Given the description of an element on the screen output the (x, y) to click on. 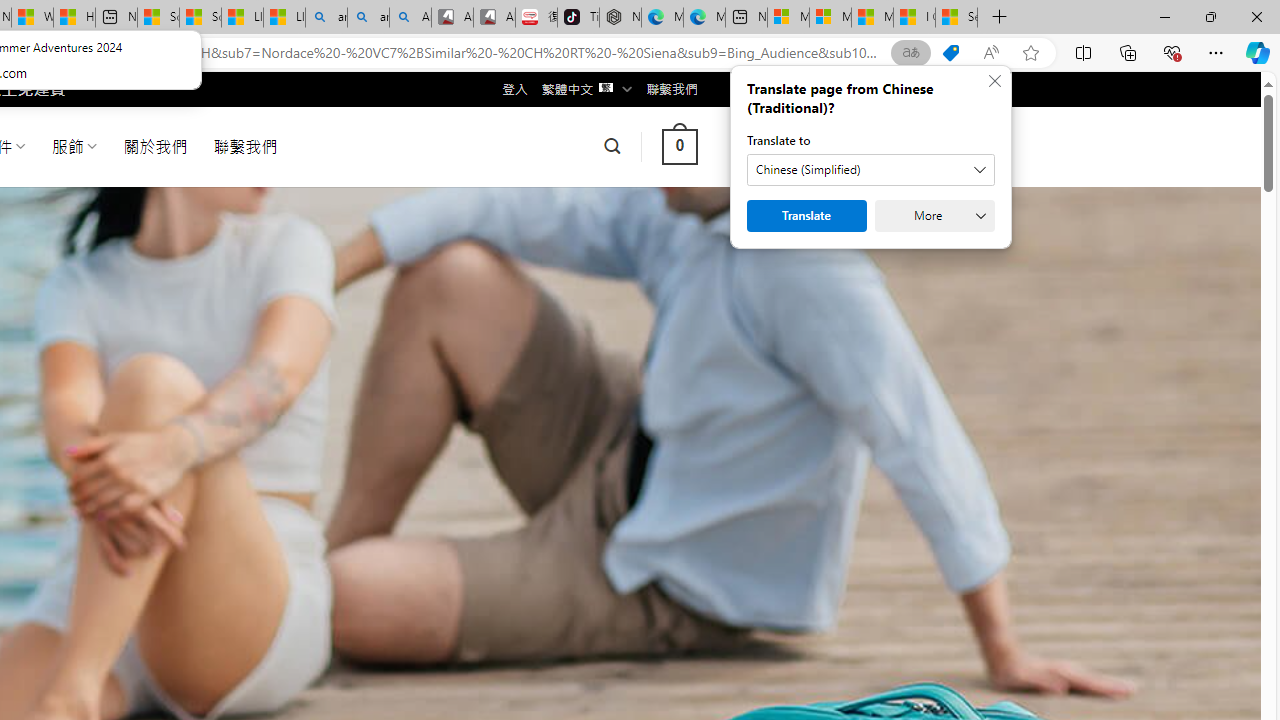
  0   (679, 146)
Nordace - Best Sellers (620, 17)
TikTok (578, 17)
amazon - Search Images (368, 17)
Huge shark washes ashore at New York City beach | Watch (73, 17)
